Given the description of an element on the screen output the (x, y) to click on. 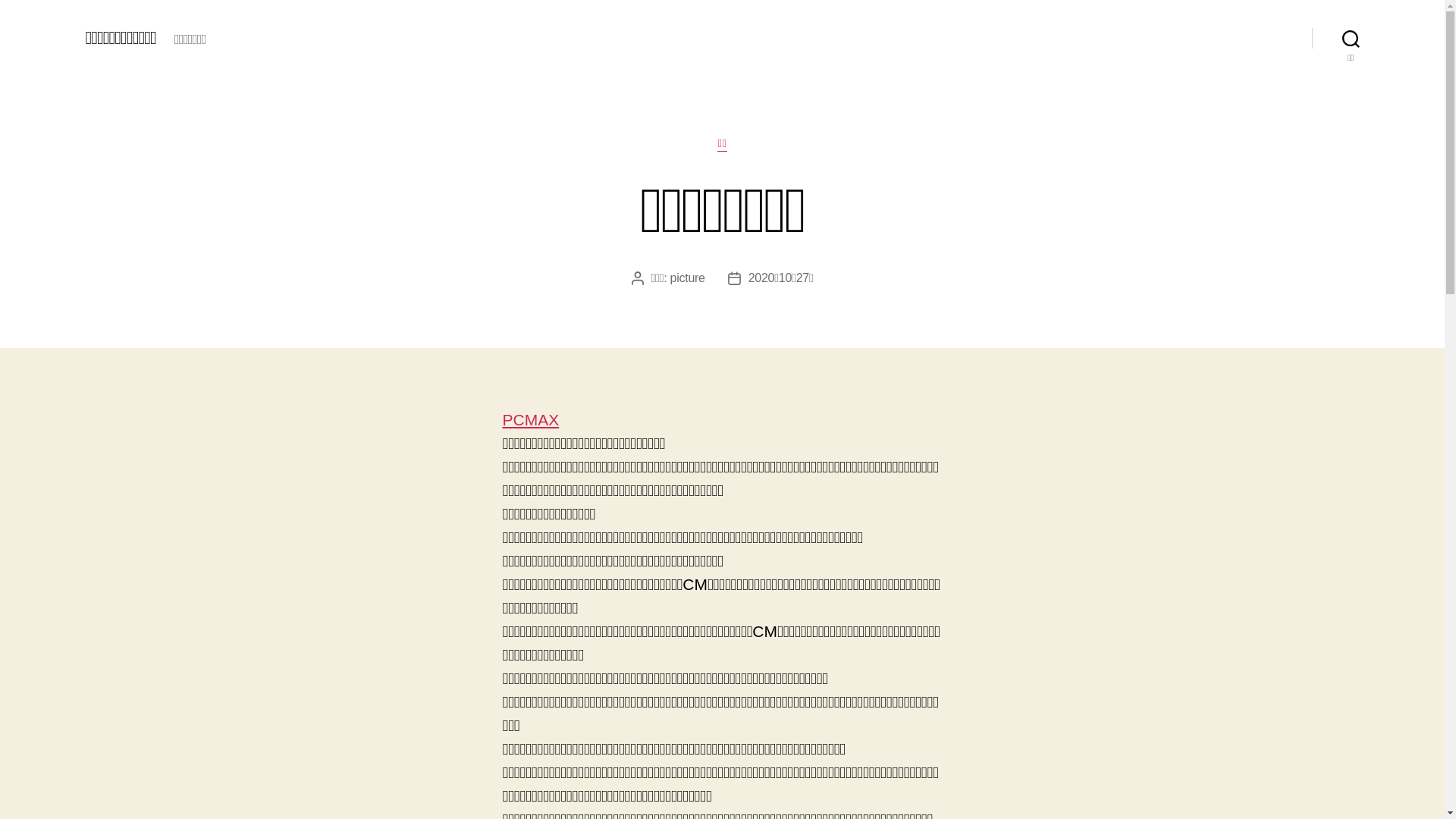
PCMAX Element type: text (530, 419)
picture Element type: text (687, 277)
